Given the description of an element on the screen output the (x, y) to click on. 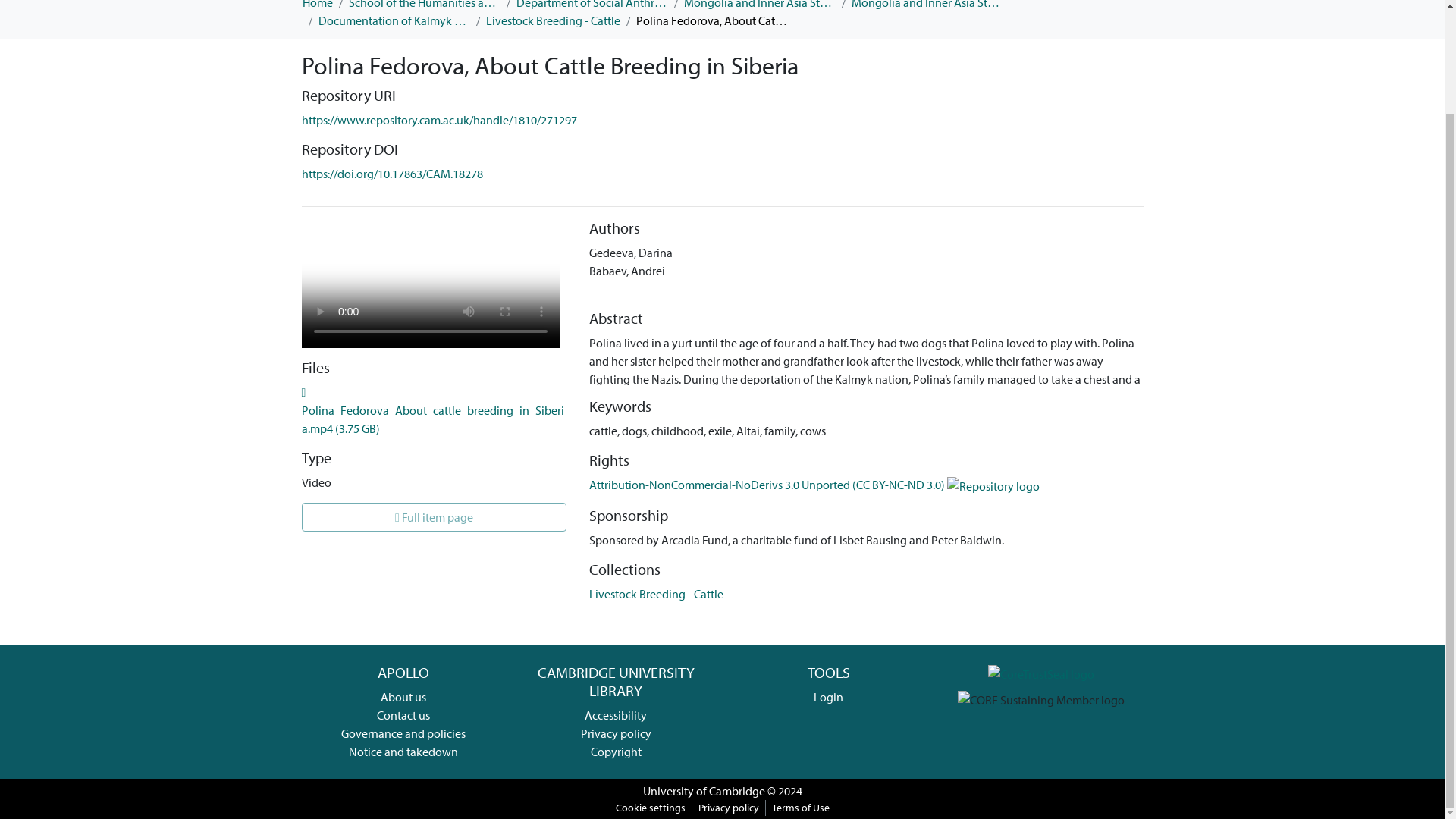
Accessibility (615, 714)
Apollo CTS full application (1041, 672)
Contact us (403, 714)
Governance and policies (402, 733)
Home (316, 5)
School of the Humanities and Social Sciences (424, 5)
Department of Social Anthropology (590, 5)
Mongolia and Inner Asia Studies Unit (759, 5)
Full item page (434, 516)
About us (403, 696)
